Given the description of an element on the screen output the (x, y) to click on. 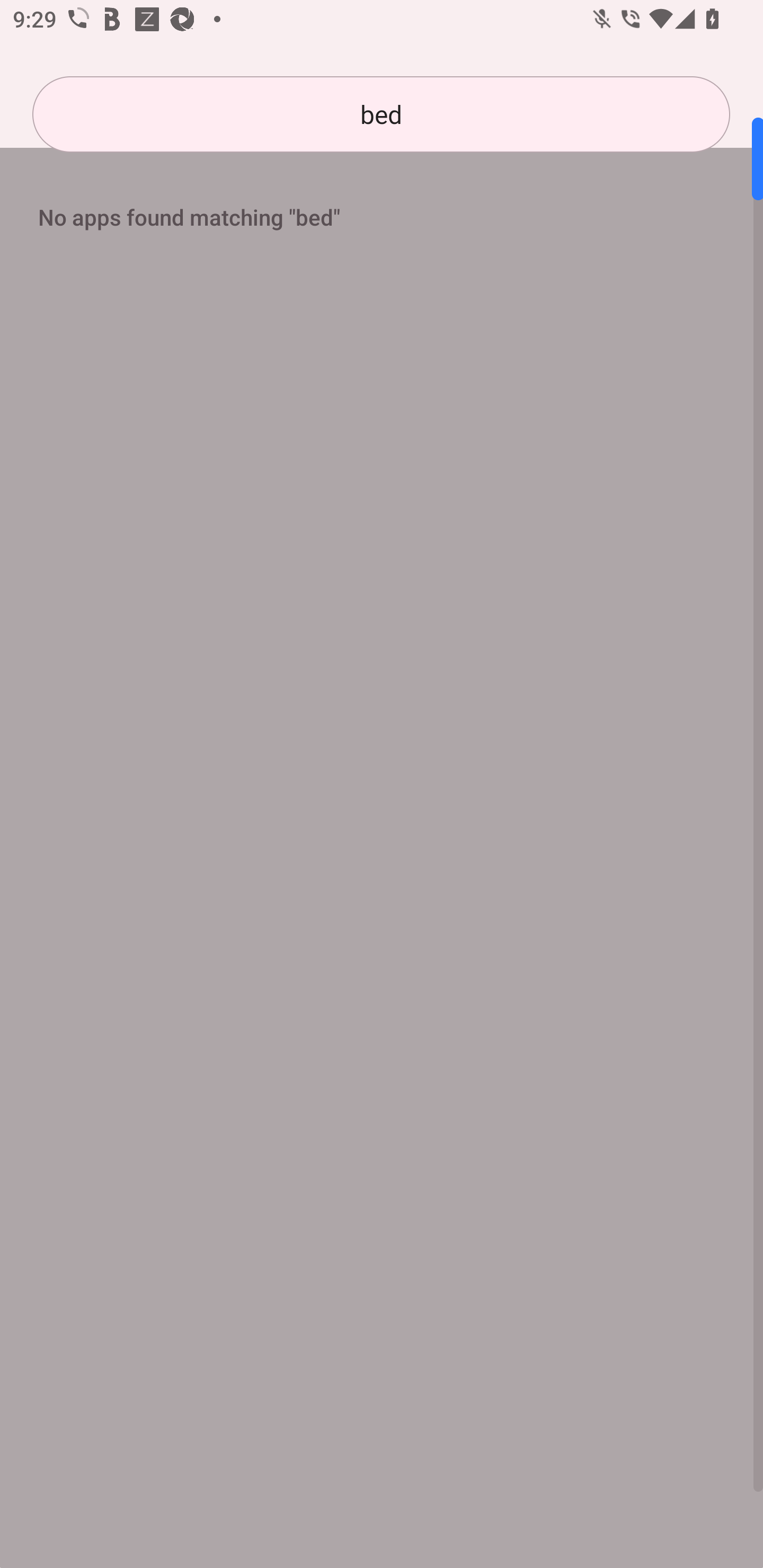
bed (381, 114)
